Given the description of an element on the screen output the (x, y) to click on. 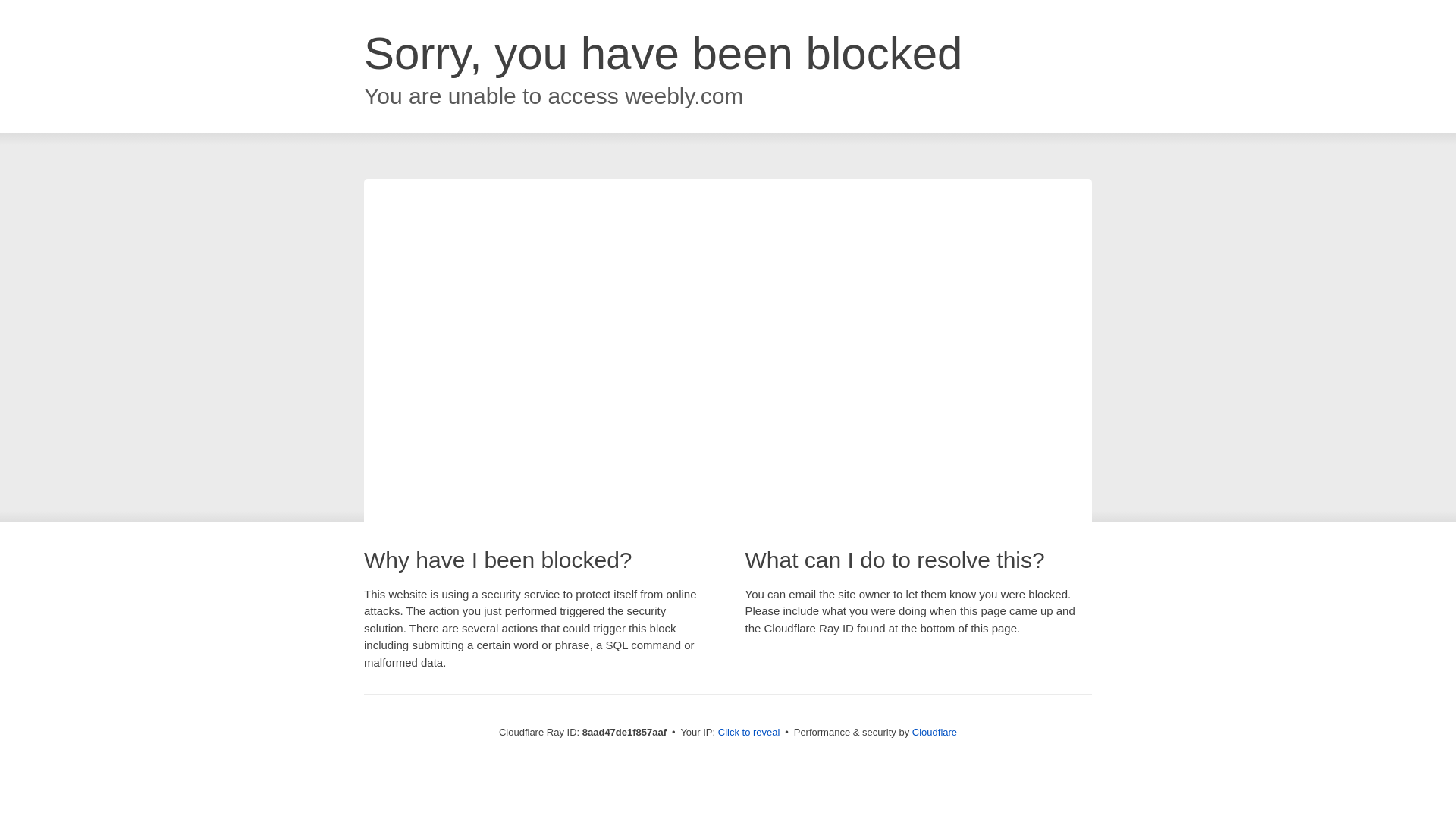
Click to reveal (748, 732)
Cloudflare (934, 731)
